Given the description of an element on the screen output the (x, y) to click on. 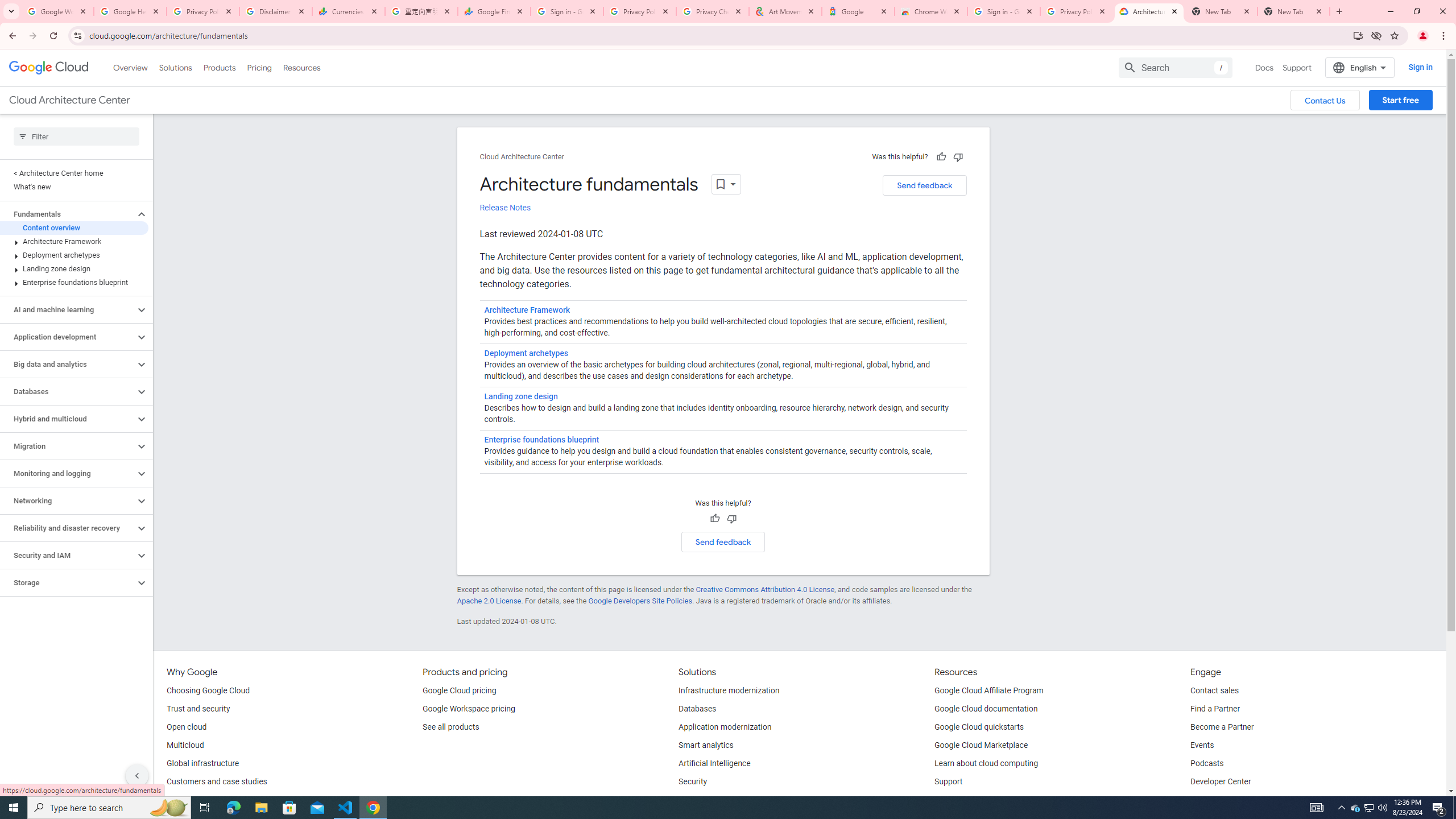
Become a Partner (1222, 727)
Release Notes (505, 208)
Databases (67, 391)
Architecture Framework (526, 310)
Google Workspace pricing (468, 709)
Deployment archetypes (525, 353)
Application development (67, 336)
Solutions (175, 67)
Sign in - Google Accounts (1003, 11)
